Given the description of an element on the screen output the (x, y) to click on. 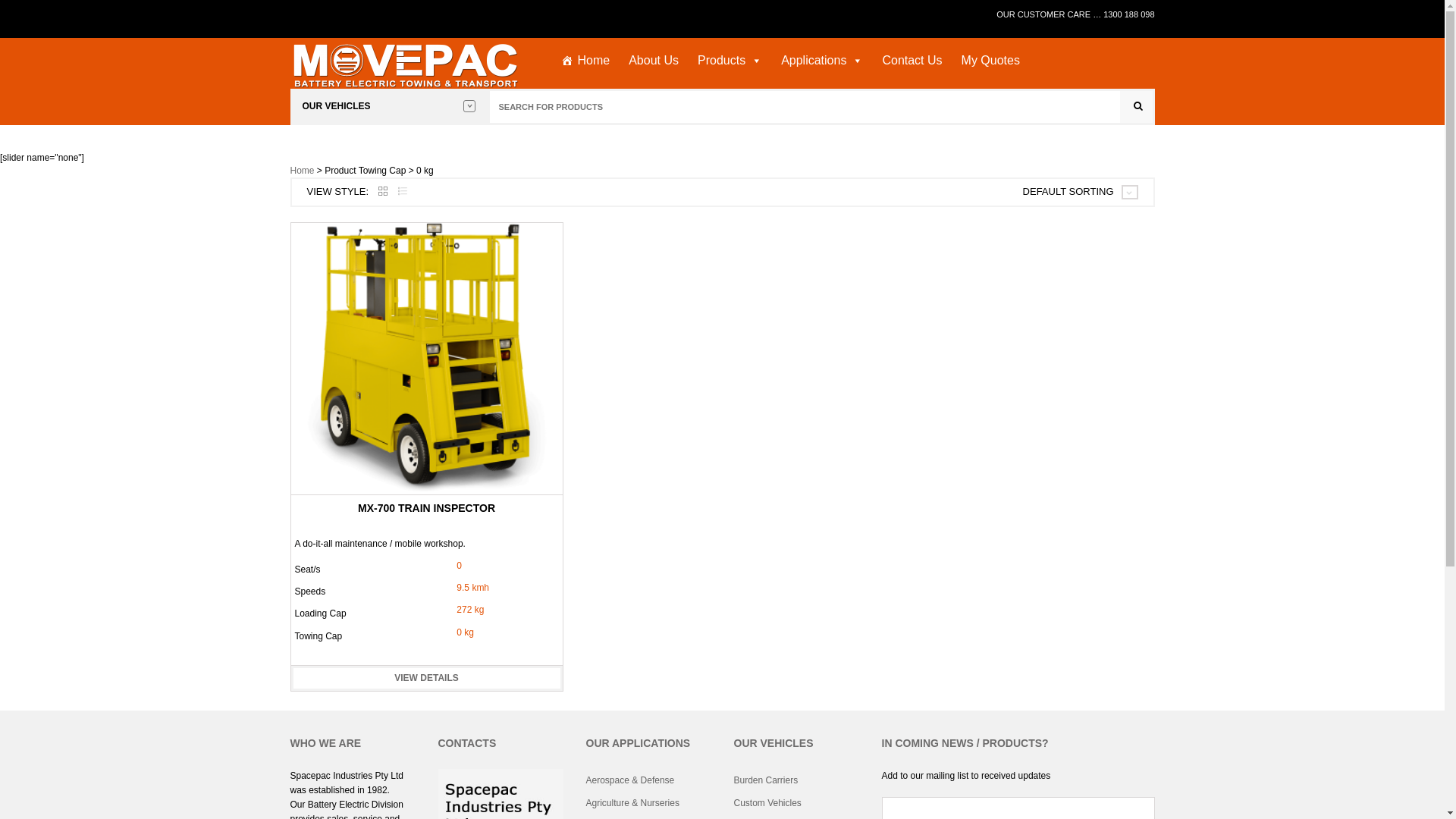
Home Element type: text (301, 170)
0 kg Element type: text (464, 632)
272 kg Element type: text (469, 609)
Contact Us Element type: text (911, 60)
Applications Element type: text (821, 60)
Search Element type: text (1135, 106)
MX-700 TRAIN INSPECTOR Element type: text (426, 508)
OUR VEHICLES Element type: text (387, 106)
DEFAULT SORTING Element type: text (1067, 192)
Aerospace & Defense Element type: text (647, 779)
0 Element type: text (458, 565)
Switch to grid view Element type: hover (382, 191)
VIEW DETAILS Element type: text (425, 678)
Home Element type: text (585, 60)
Switch to list view Element type: hover (402, 191)
About Us Element type: text (653, 60)
9.5 kmh Element type: text (472, 587)
Agriculture & Nurseries Element type: text (647, 802)
My Quotes Element type: text (990, 60)
Custom Vehicles Element type: text (796, 802)
Products Element type: text (729, 60)
Burden Carriers Element type: text (796, 779)
